Given the description of an element on the screen output the (x, y) to click on. 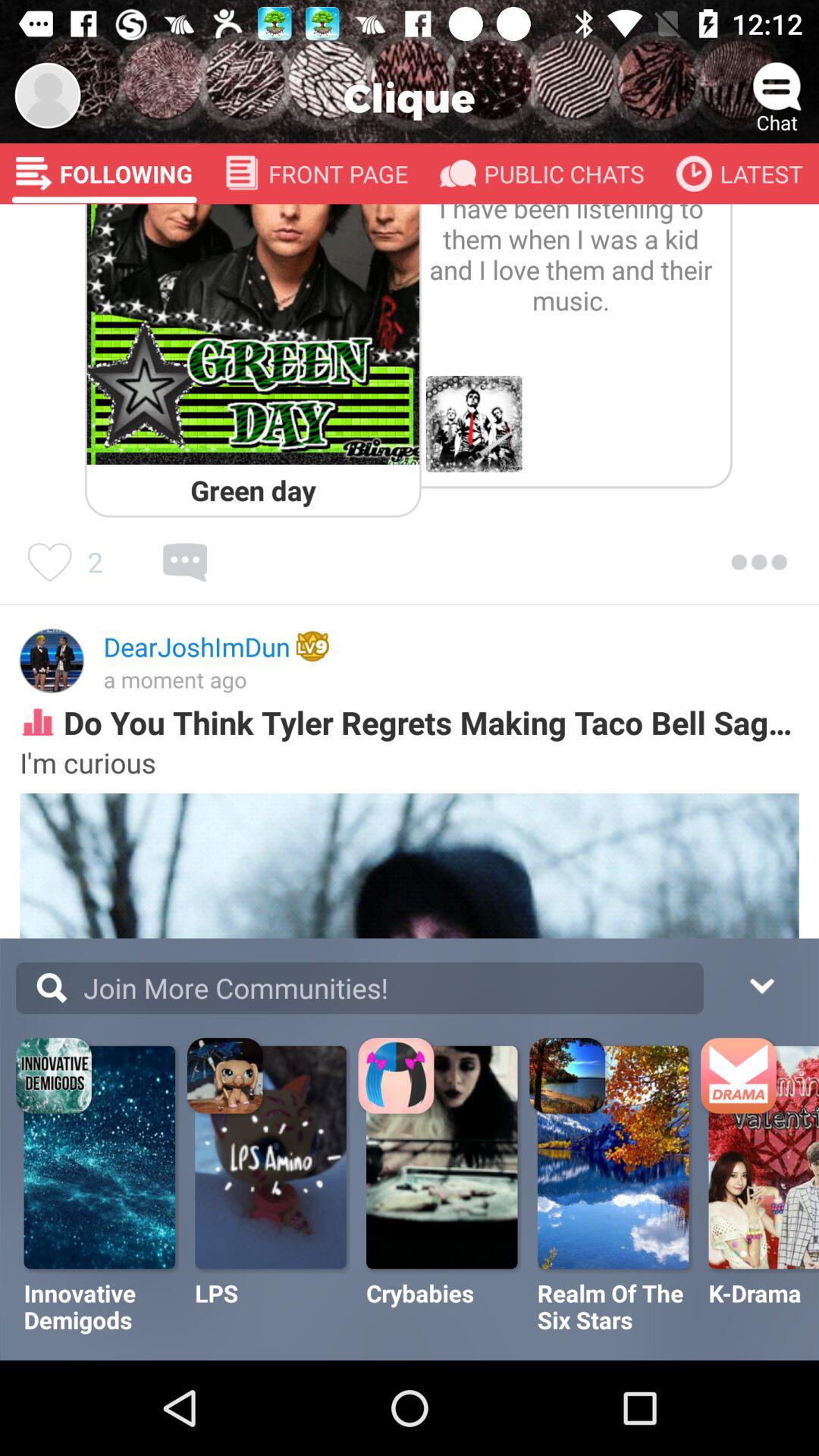
click the image at left side of do you think tyler regrets making taco bell sag (37, 722)
